Given the description of an element on the screen output the (x, y) to click on. 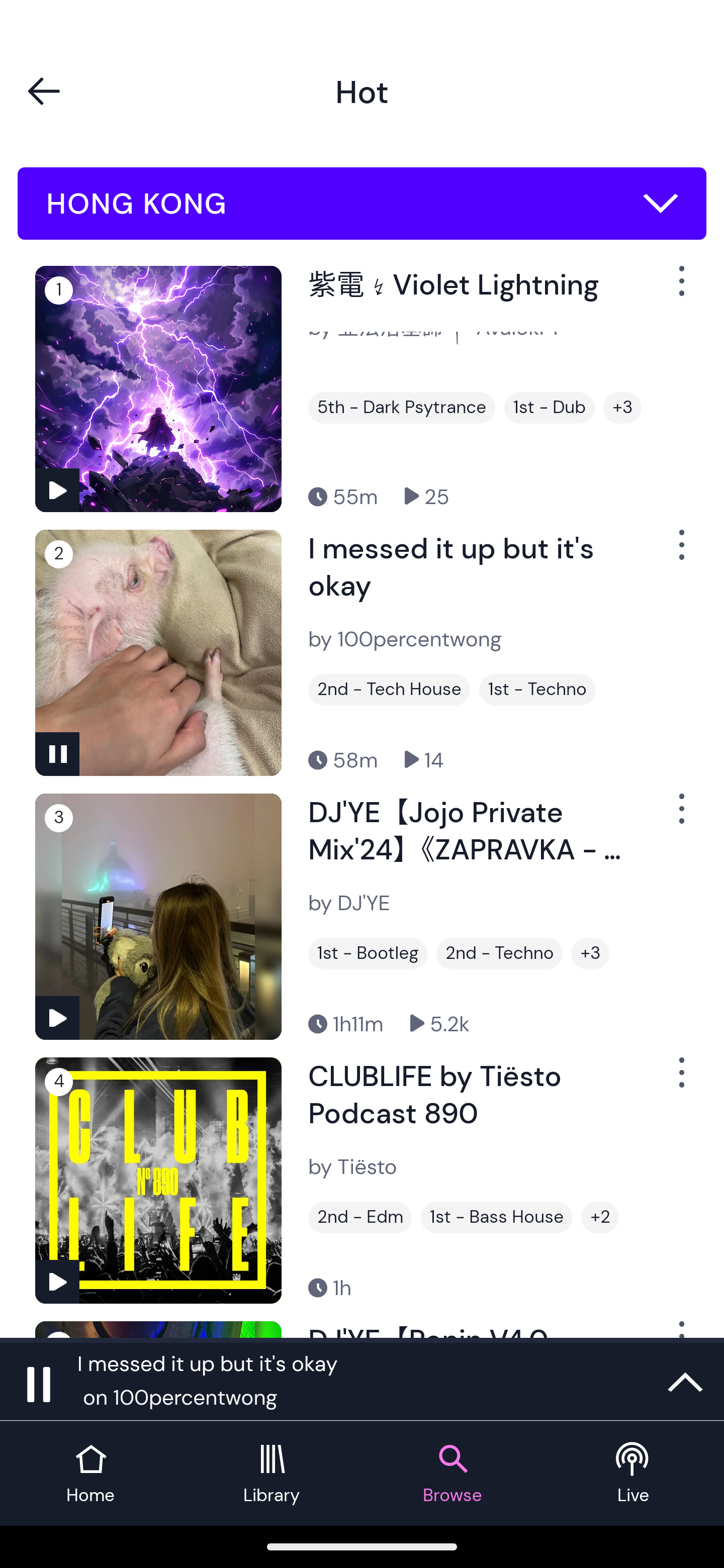
HONG KONG (361, 203)
Show Options Menu Button (679, 289)
5th - Dark Psytrance (401, 407)
1st - Dub (549, 407)
Show Options Menu Button (679, 552)
2nd - Tech House (388, 689)
1st - Techno (537, 689)
Show Options Menu Button (679, 815)
1st - Bootleg (367, 953)
2nd - Techno (499, 953)
Show Options Menu Button (679, 1079)
2nd - Edm (359, 1217)
1st - Bass House (496, 1217)
Home tab Home (90, 1473)
Library tab Library (271, 1473)
Browse tab Browse (452, 1473)
Live tab Live (633, 1473)
